Given the description of an element on the screen output the (x, y) to click on. 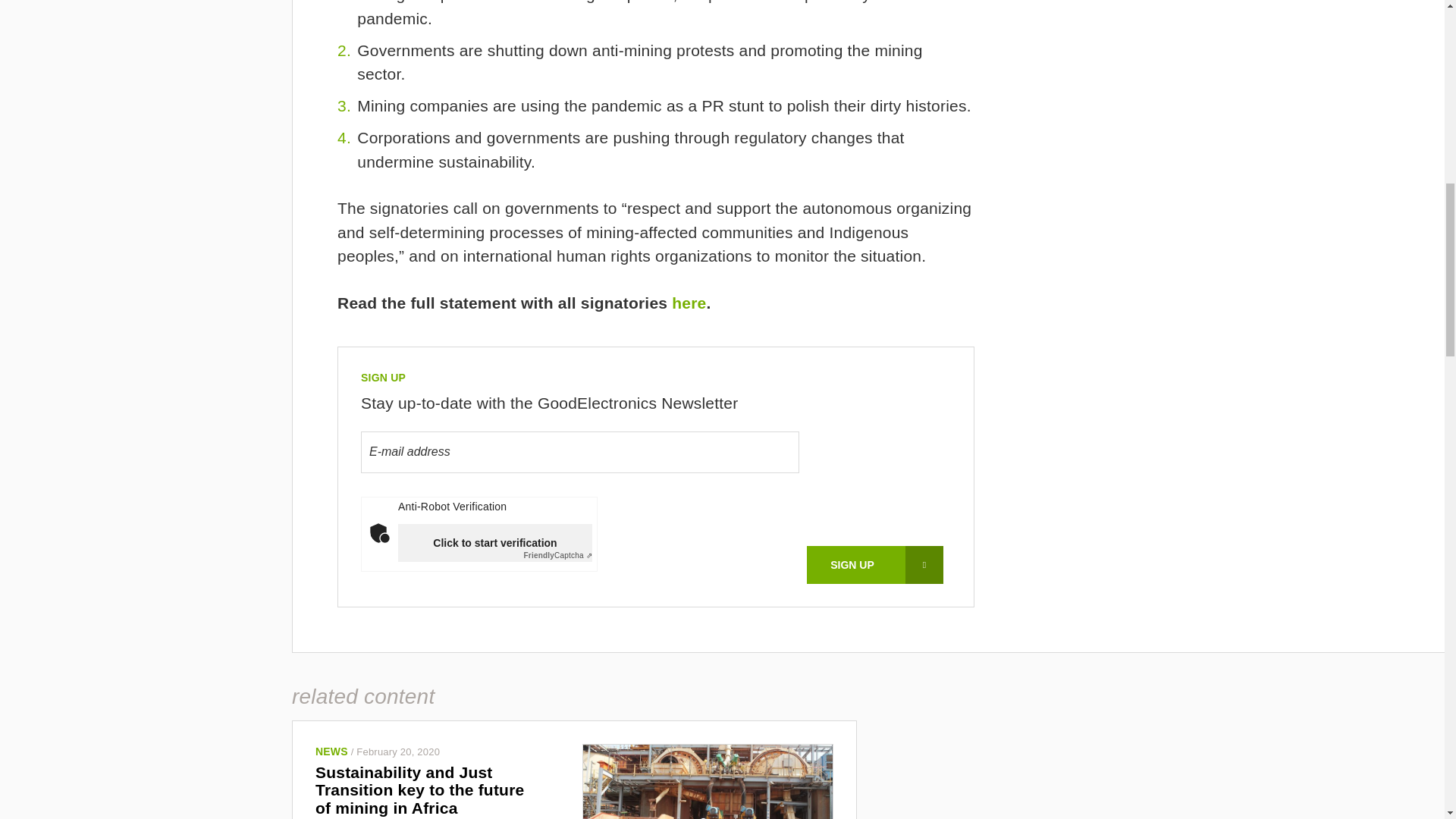
Click to start verification (494, 542)
here (688, 303)
Sign up (874, 564)
Sign up (874, 564)
